Given the description of an element on the screen output the (x, y) to click on. 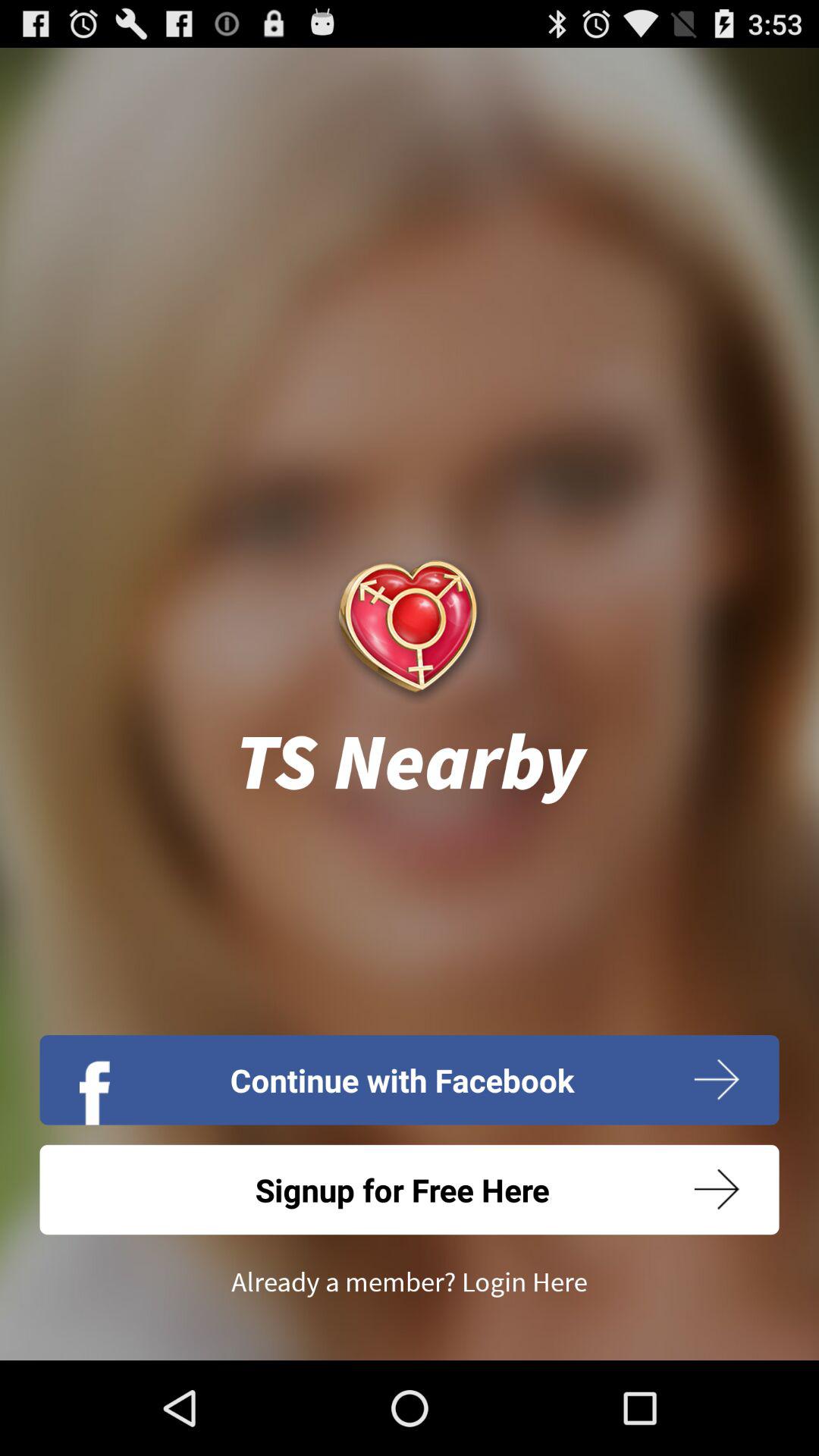
launch the button above the signup for free item (409, 1079)
